Given the description of an element on the screen output the (x, y) to click on. 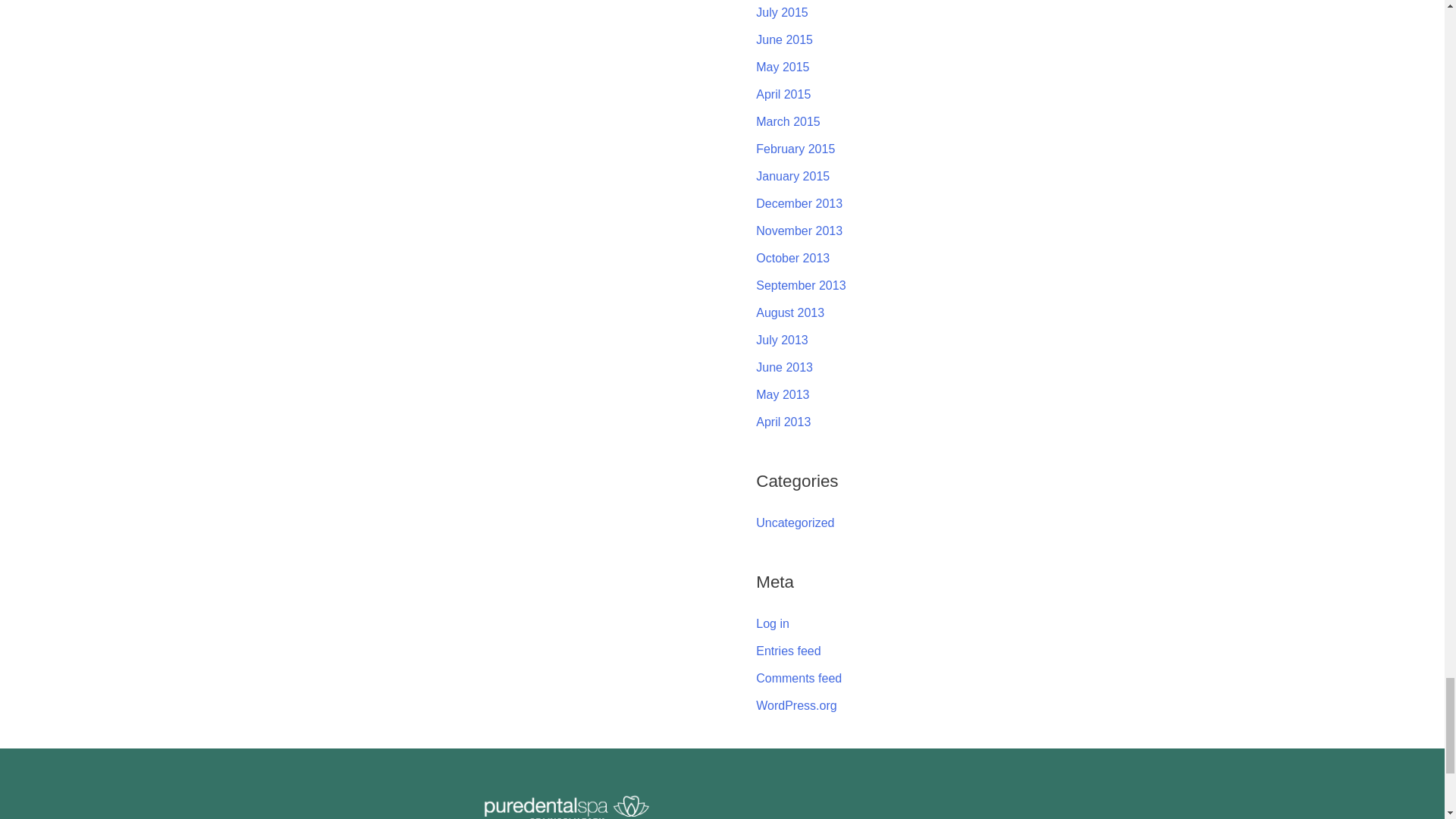
Pure Dental Spa Lincoln Park Chicago, IL (845, 811)
